Given the description of an element on the screen output the (x, y) to click on. 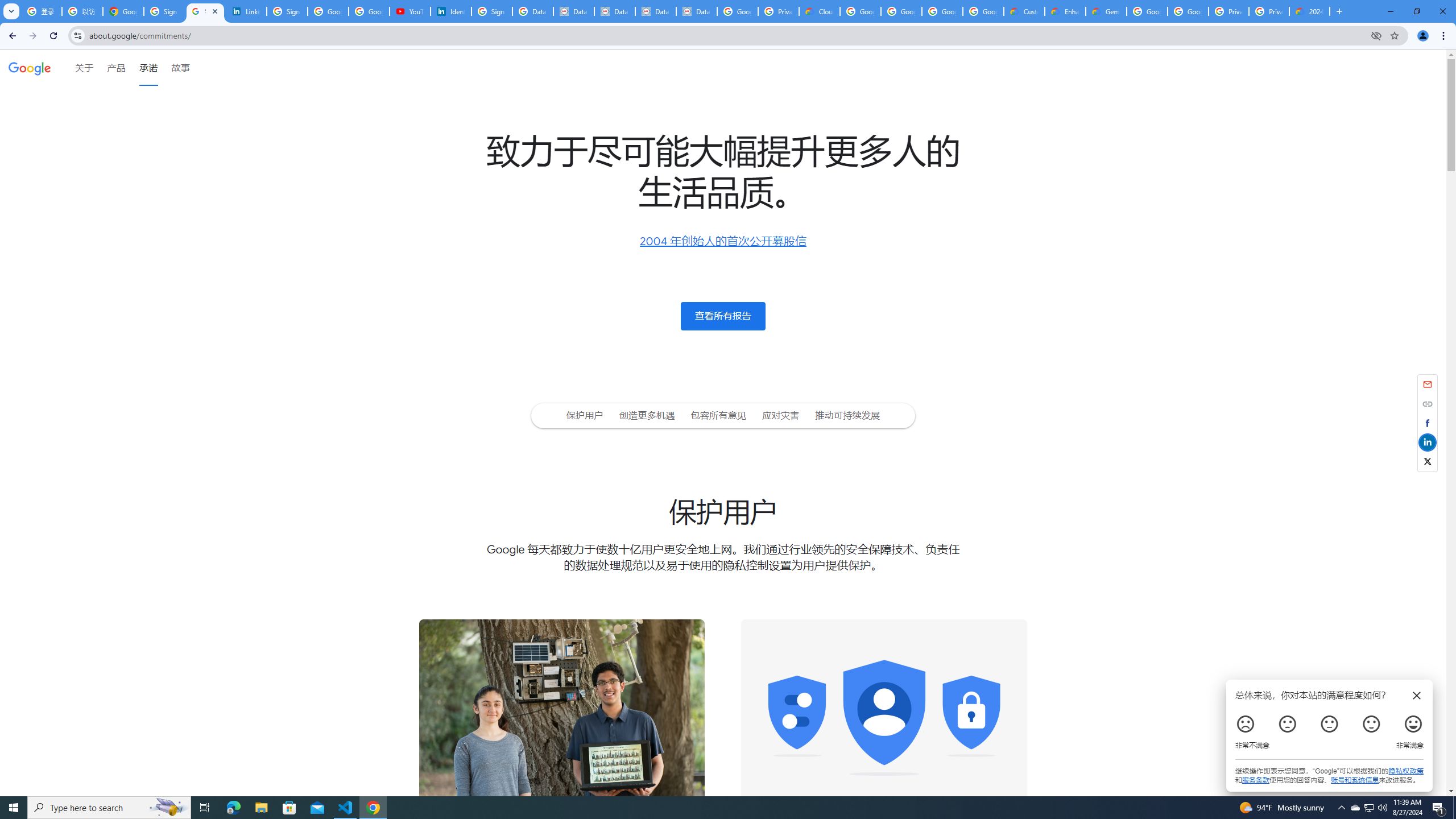
Data Privacy Framework (655, 11)
Cloud Data Processing Addendum | Google Cloud (818, 11)
Sign in - Google Accounts (490, 11)
Sign in - Google Accounts (287, 11)
